Given the description of an element on the screen output the (x, y) to click on. 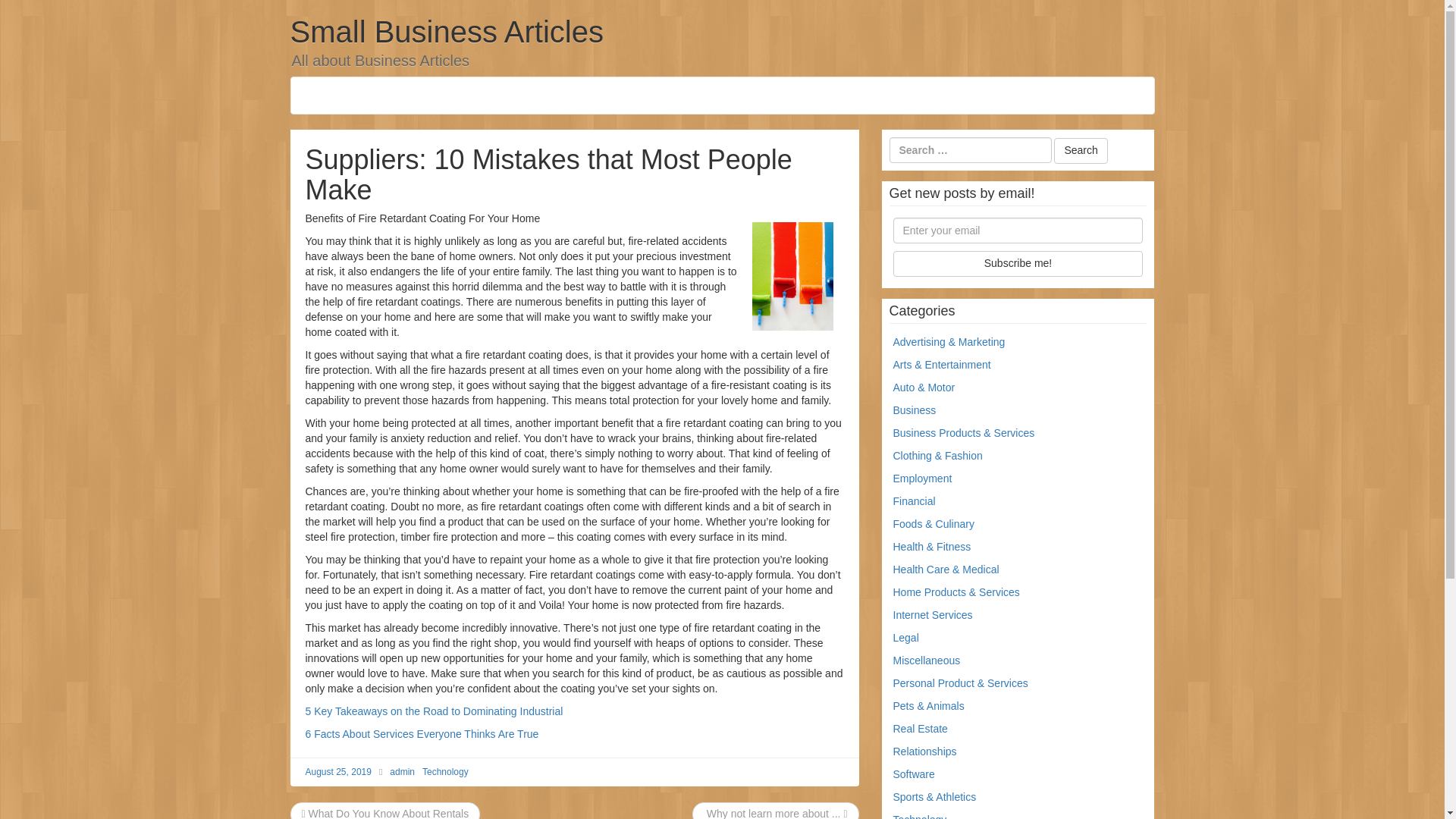
Search (1080, 150)
 What Do You Know About Rentals (384, 813)
6 Facts About Services Everyone Thinks Are True (421, 734)
Technology (445, 771)
Miscellaneous (926, 660)
 Why not learn more about ...  (775, 813)
admin (402, 771)
Subscribe me! (1017, 263)
Search (1080, 150)
Legal (905, 637)
